Given the description of an element on the screen output the (x, y) to click on. 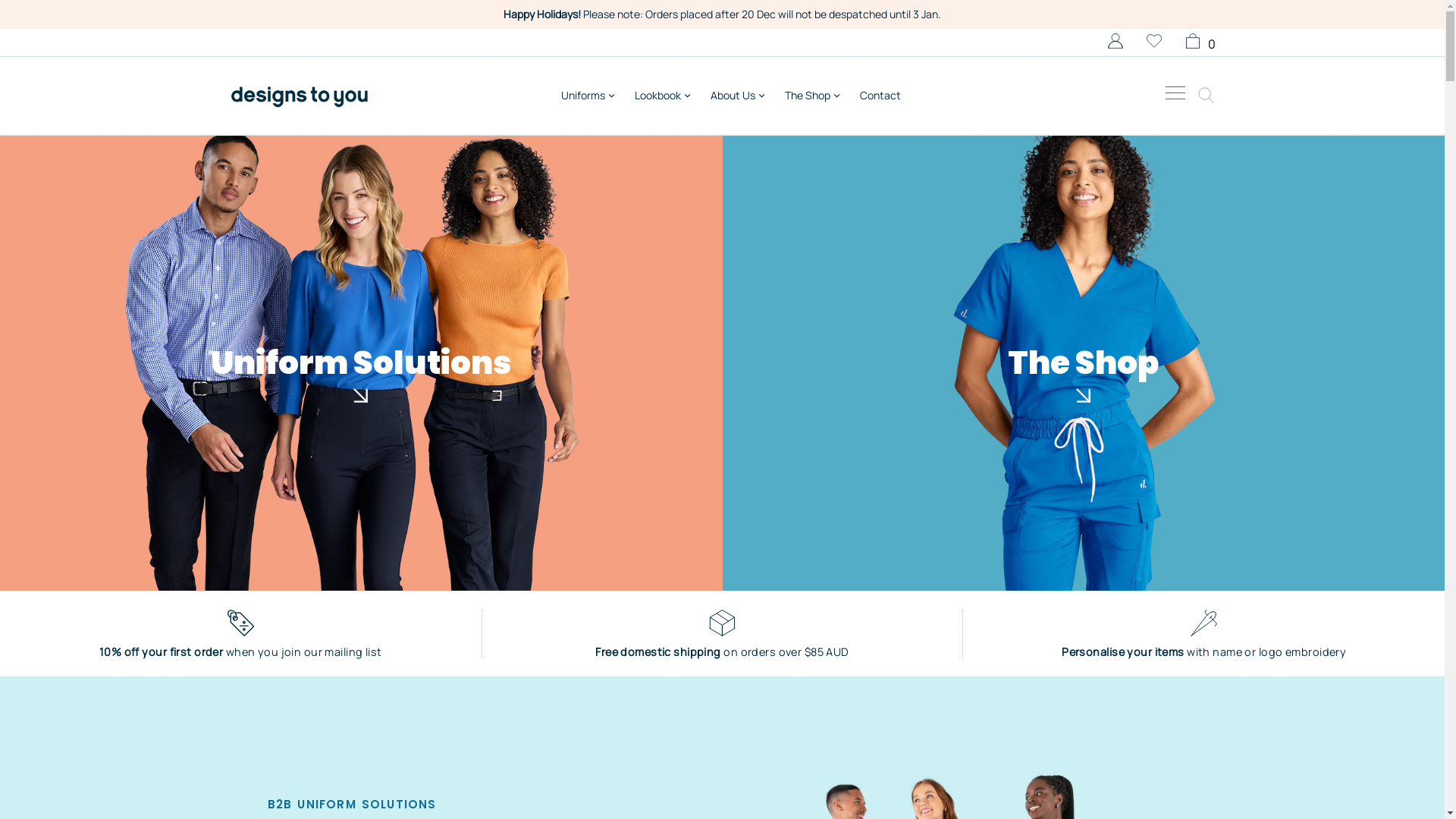
0 Element type: text (1197, 42)
Contact Element type: text (880, 95)
Lookbook Element type: text (666, 90)
Uniforms Element type: text (598, 90)
Personalise your items with name or logo embroidery Element type: text (1203, 633)
10% off your first order when you join our mailing list Element type: text (240, 633)
Free domestic shipping on orders over $85 AUD Element type: text (722, 633)
The Shop Element type: text (805, 90)
About Us Element type: text (736, 90)
